Given the description of an element on the screen output the (x, y) to click on. 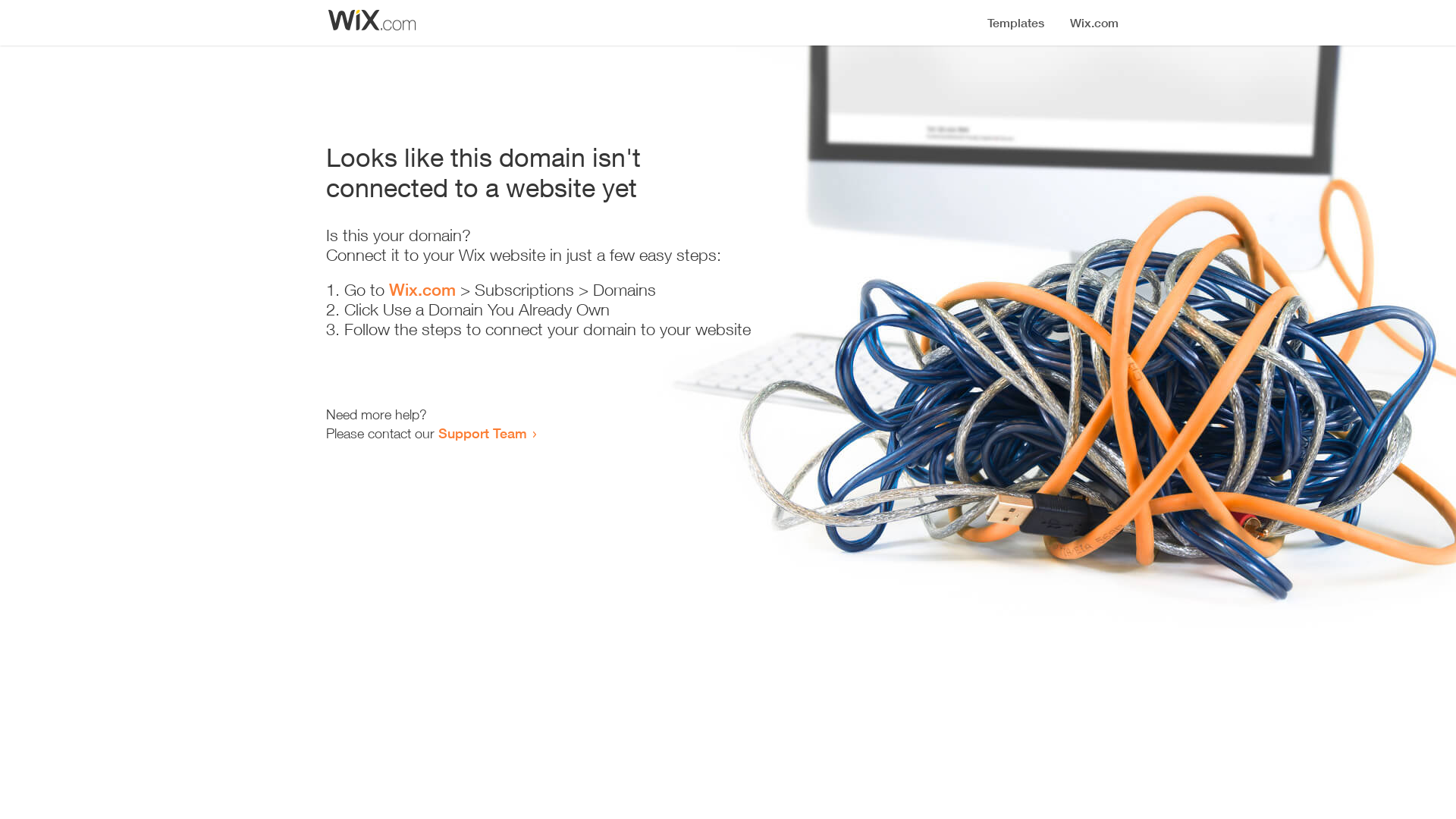
Wix.com Element type: text (422, 289)
Support Team Element type: text (482, 432)
